Given the description of an element on the screen output the (x, y) to click on. 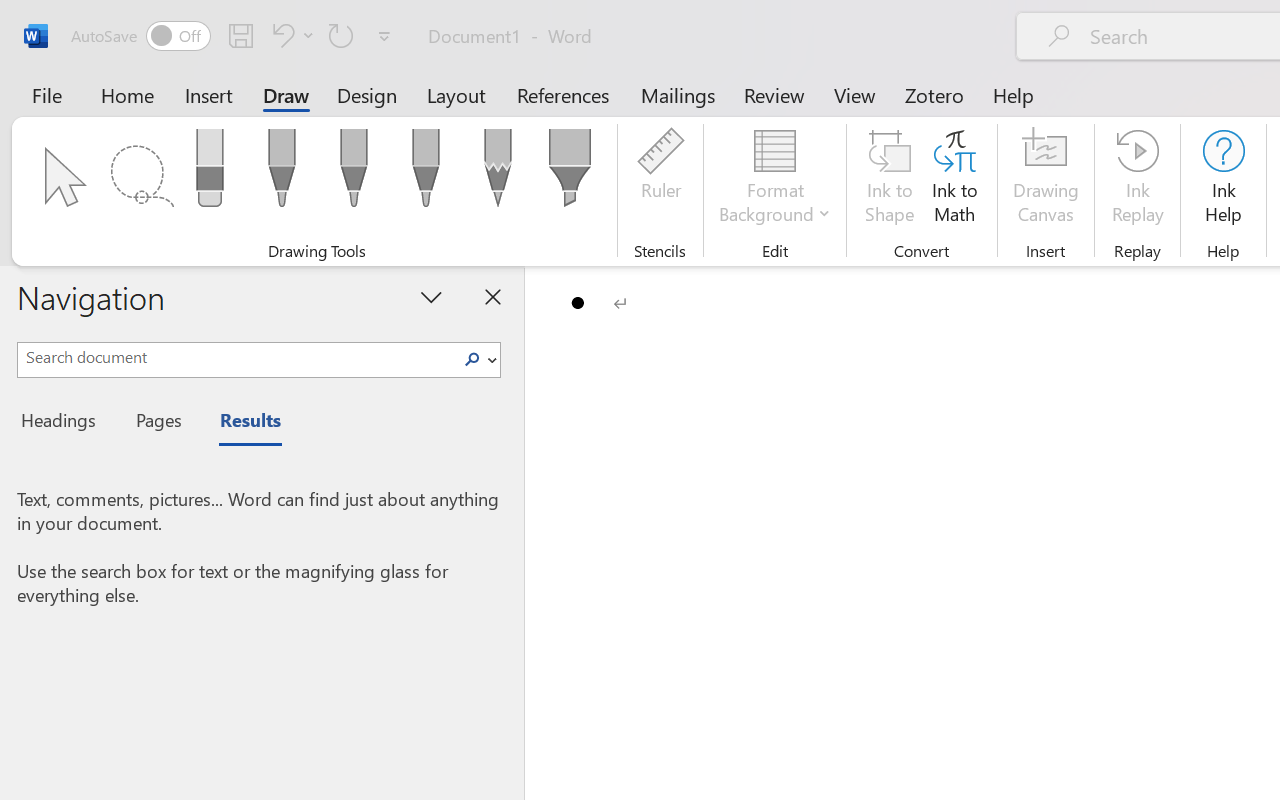
Can't Repeat (341, 35)
Search document (236, 357)
Ink to Math (954, 179)
Ruler (660, 179)
